Given the description of an element on the screen output the (x, y) to click on. 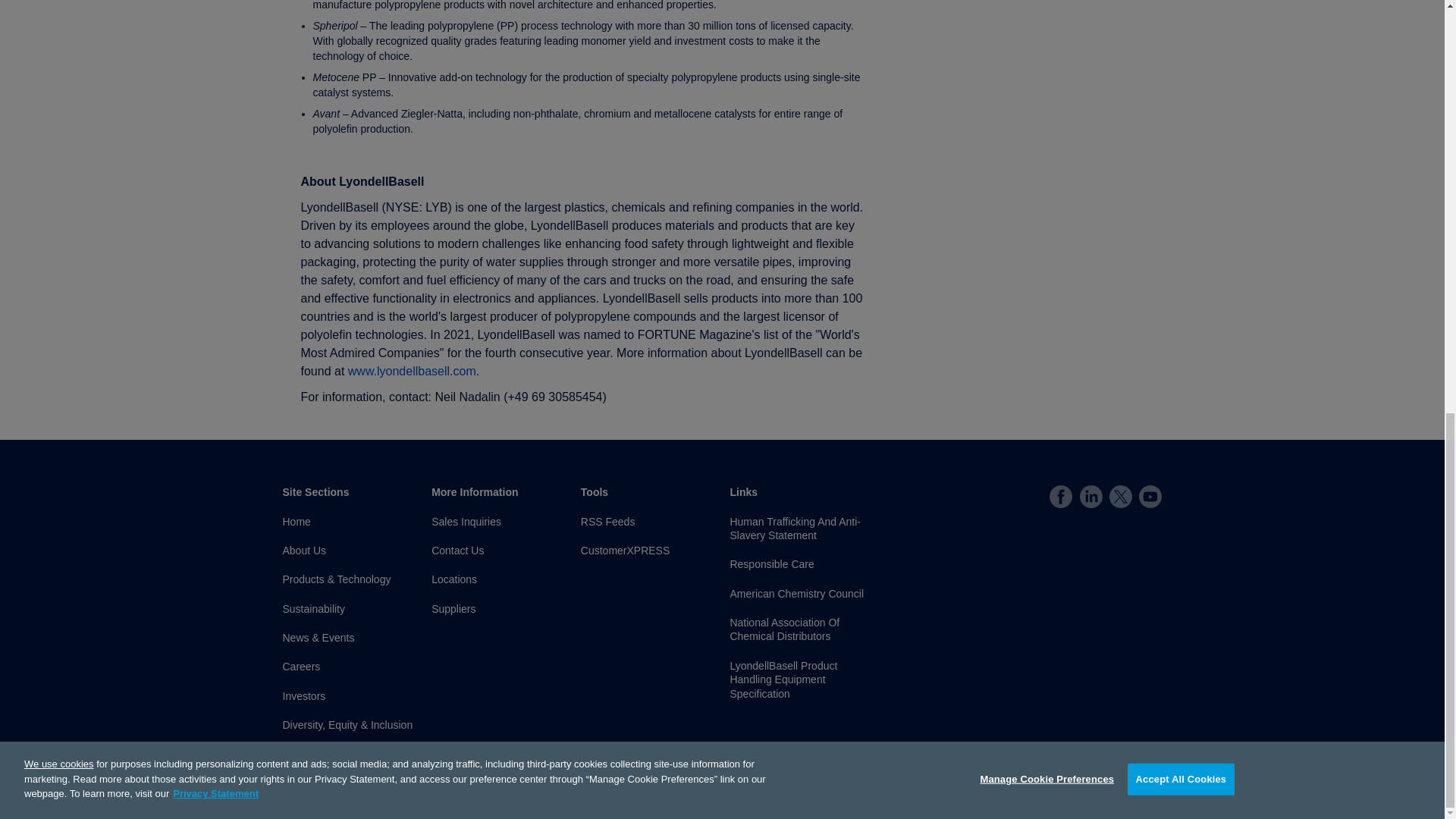
LinkedIn (1091, 496)
Twitter (1120, 496)
Youtube (1149, 496)
Facebook (1060, 496)
